Given the description of an element on the screen output the (x, y) to click on. 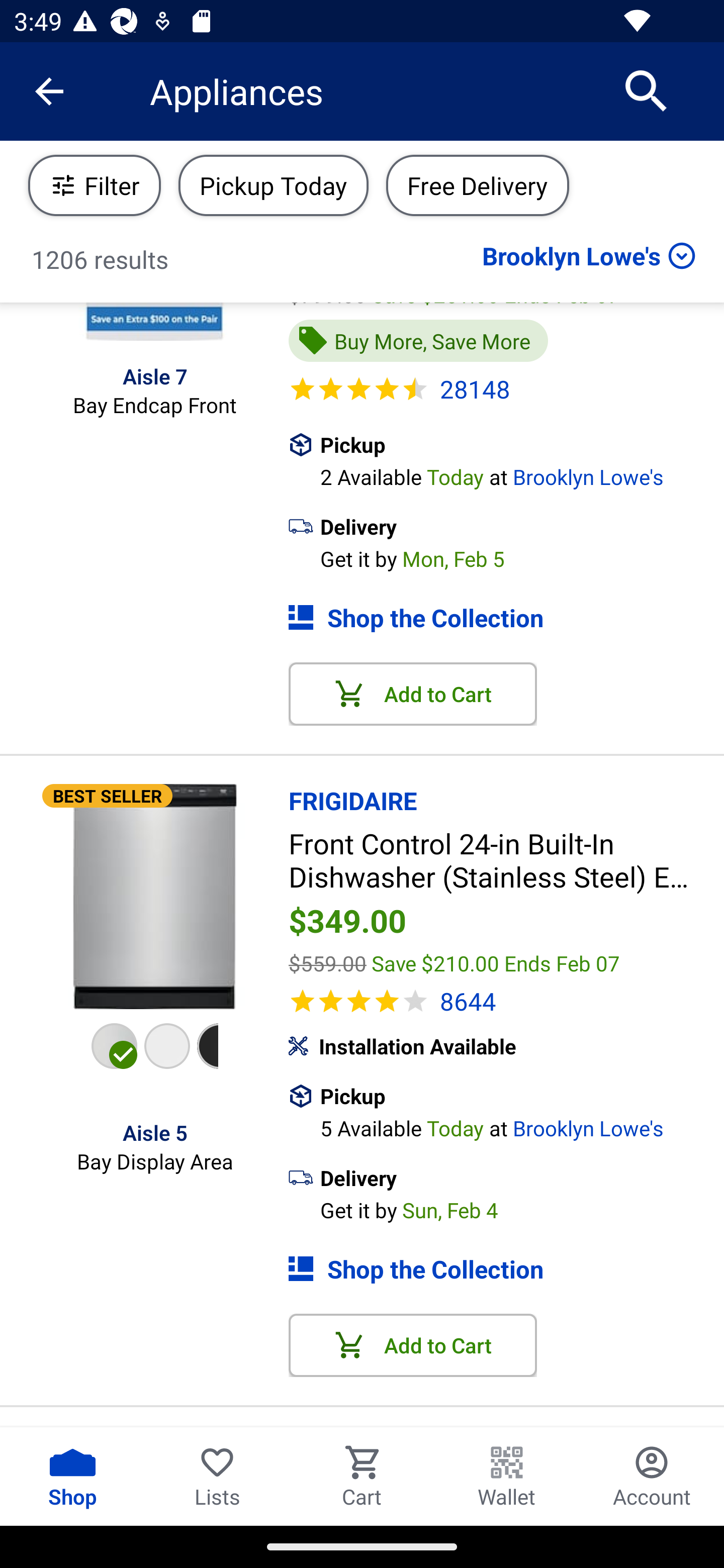
Navigate up (49, 91)
Search for products (646, 90)
Sort And Filter Button Filter (94, 184)
Pickup Today (273, 184)
Free Delivery (477, 184)
Brooklyn Lowe's Dropdown Icon (588, 255)
2 Available Today  at  Brooklyn Lowe's (522, 474)
Shop the Collection (506, 616)
Add to Cart (412, 693)
5 Available Today  at  Brooklyn Lowe's (522, 1126)
Shop the Collection (506, 1268)
Add to Cart (412, 1344)
Lists (216, 1475)
Cart (361, 1475)
Wallet (506, 1475)
Account (651, 1475)
